Given the description of an element on the screen output the (x, y) to click on. 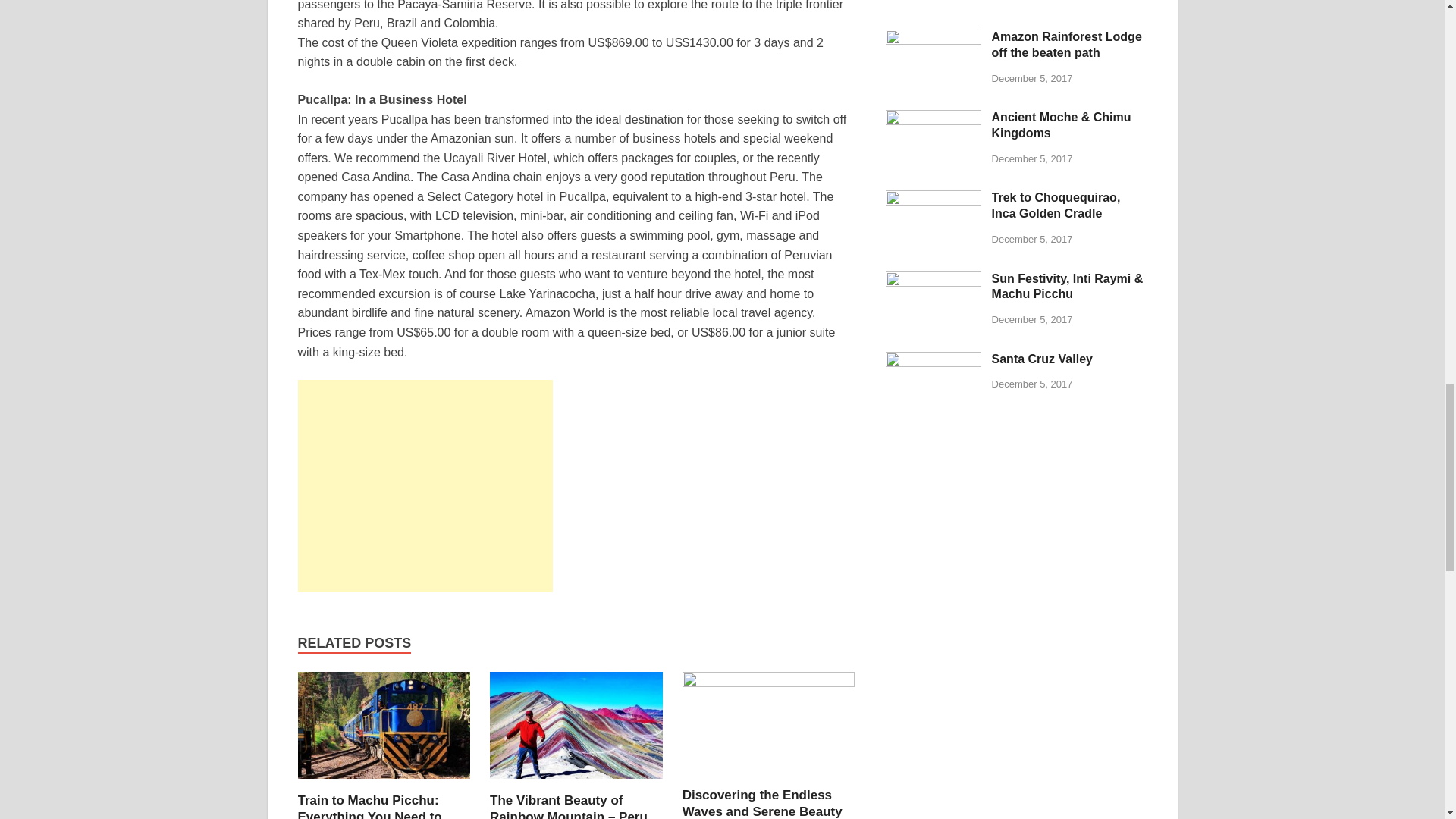
Train to Machu Picchu: Everything You Need to Know (369, 806)
Discovering the Endless Waves and Serene Beauty of Chicama (769, 682)
Train to Machu Picchu: Everything You Need to Know (383, 782)
Discovering the Endless Waves and Serene Beauty of Chicama (762, 803)
Train to Machu Picchu: Everything You Need to Know (369, 806)
Discovering the Endless Waves and Serene Beauty of Chicama (762, 803)
Amazon Rainforest Lodge off the beaten path (932, 40)
